Given the description of an element on the screen output the (x, y) to click on. 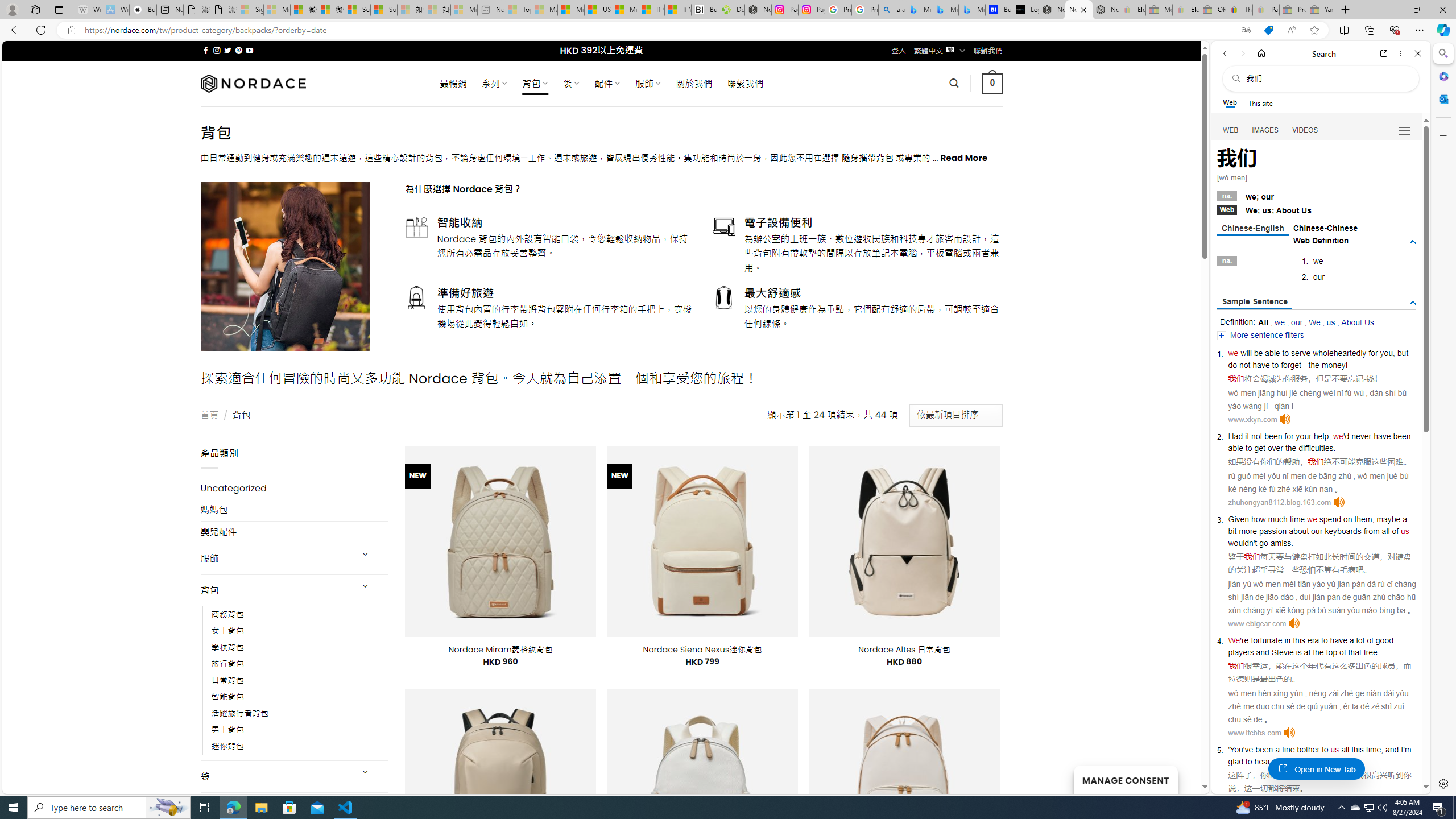
not (1256, 435)
will (1246, 352)
